Given the description of an element on the screen output the (x, y) to click on. 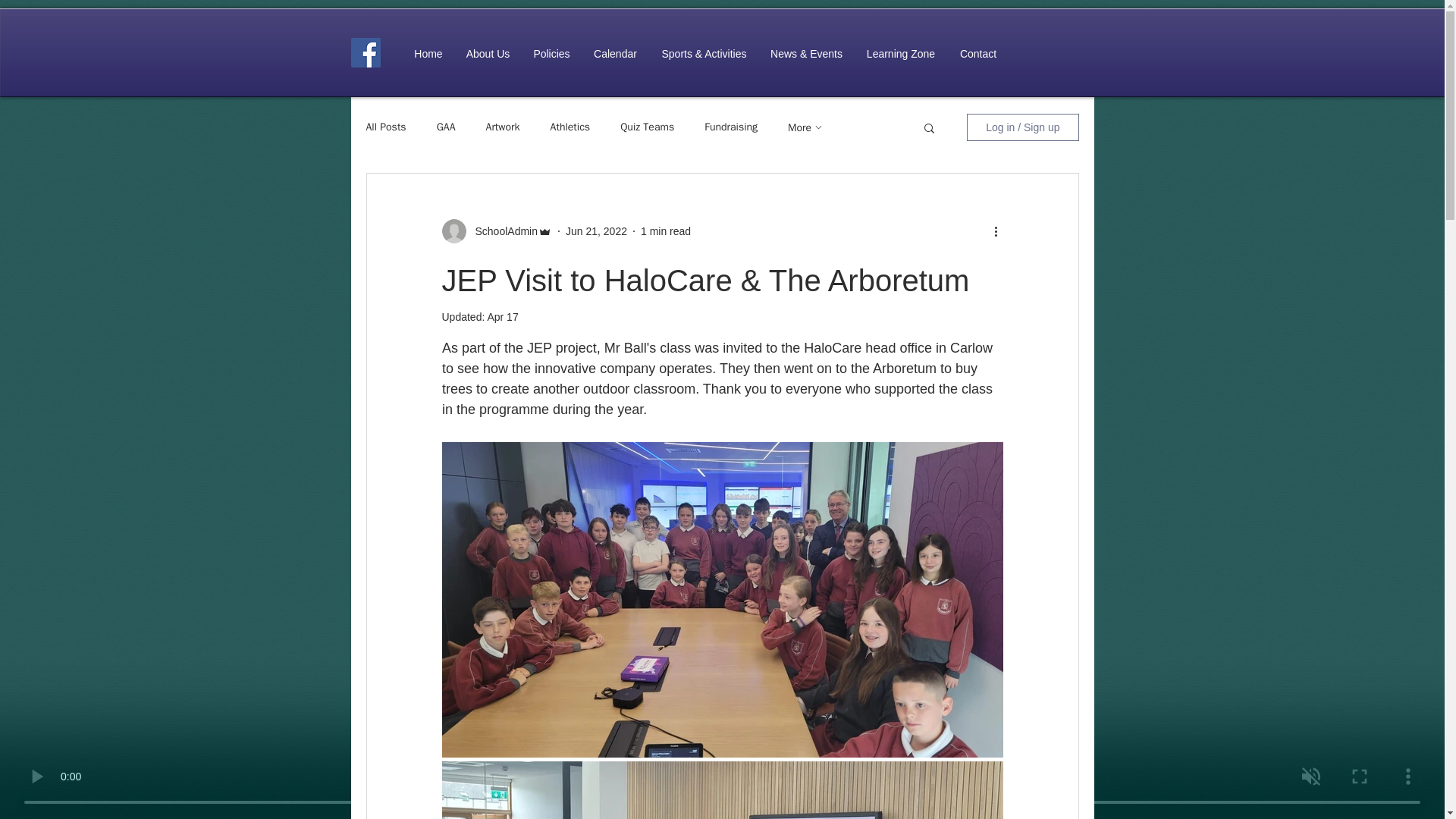
Calendar (614, 53)
1 min read (665, 230)
Home (428, 53)
Apr 17 (502, 316)
Jun 21, 2022 (596, 230)
Facebook Like (1046, 51)
SchoolAdmin (501, 230)
